Given the description of an element on the screen output the (x, y) to click on. 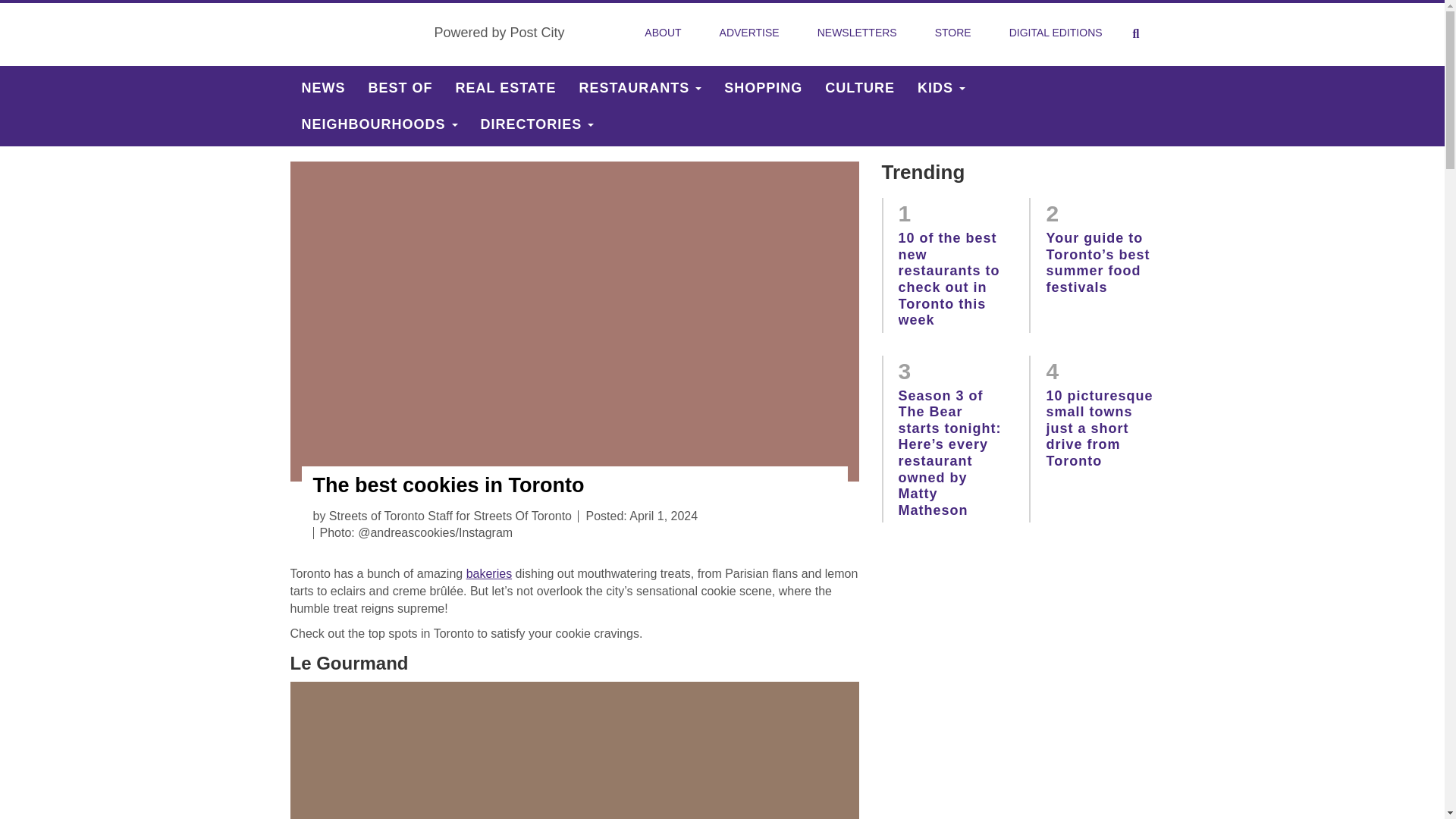
ABOUT (661, 32)
Streets Of Toronto (355, 33)
SHOPPING (763, 87)
BEST OF (400, 87)
RESTAURANTS (640, 87)
DIGITAL EDITIONS (1056, 32)
REAL ESTATE (505, 87)
STORE (953, 32)
ADVERTISE (749, 32)
NEWSLETTERS (857, 32)
CULTURE (859, 87)
NEWS (322, 87)
